Given the description of an element on the screen output the (x, y) to click on. 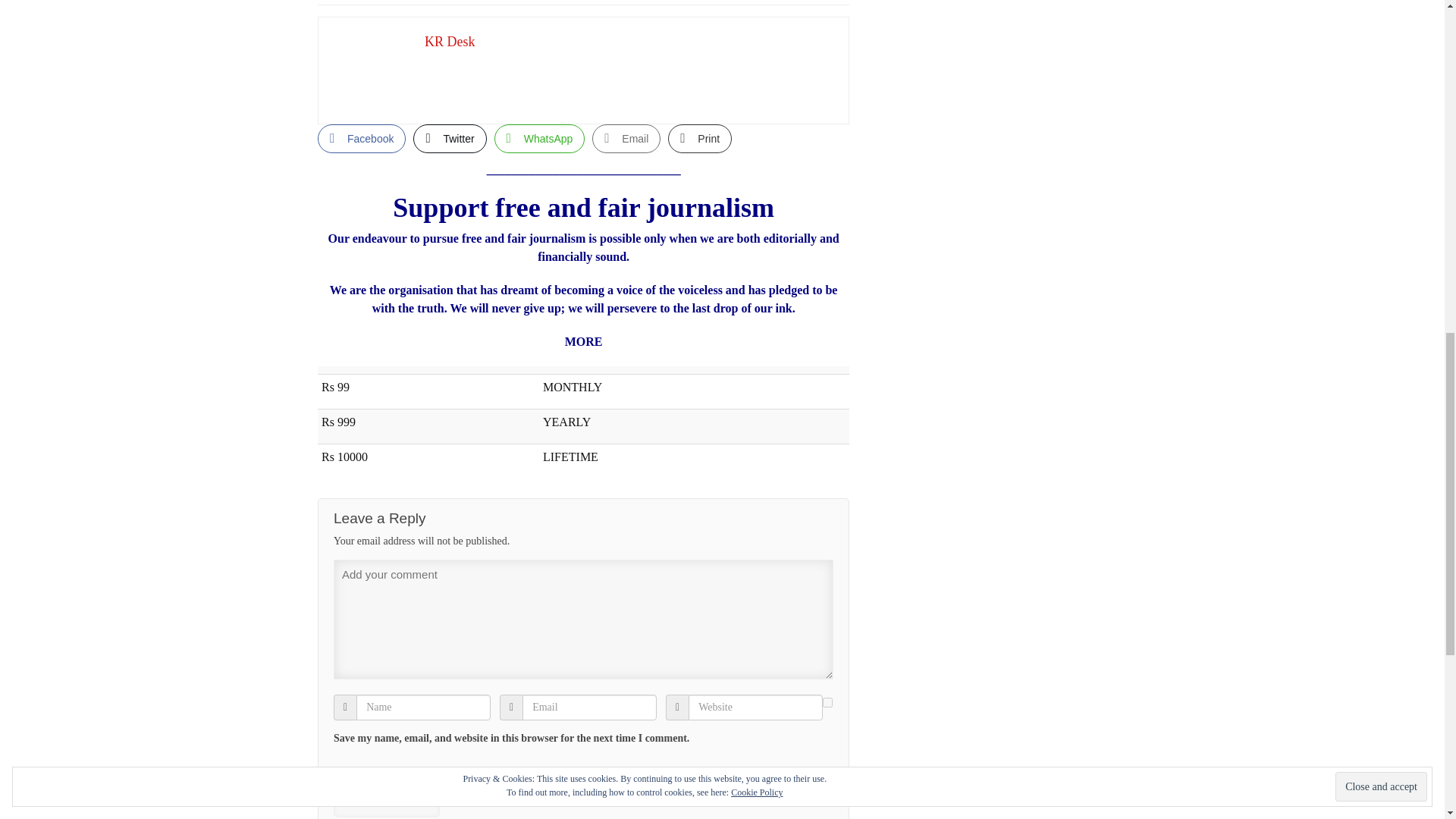
yes (827, 702)
Post Comment (386, 802)
